Given the description of an element on the screen output the (x, y) to click on. 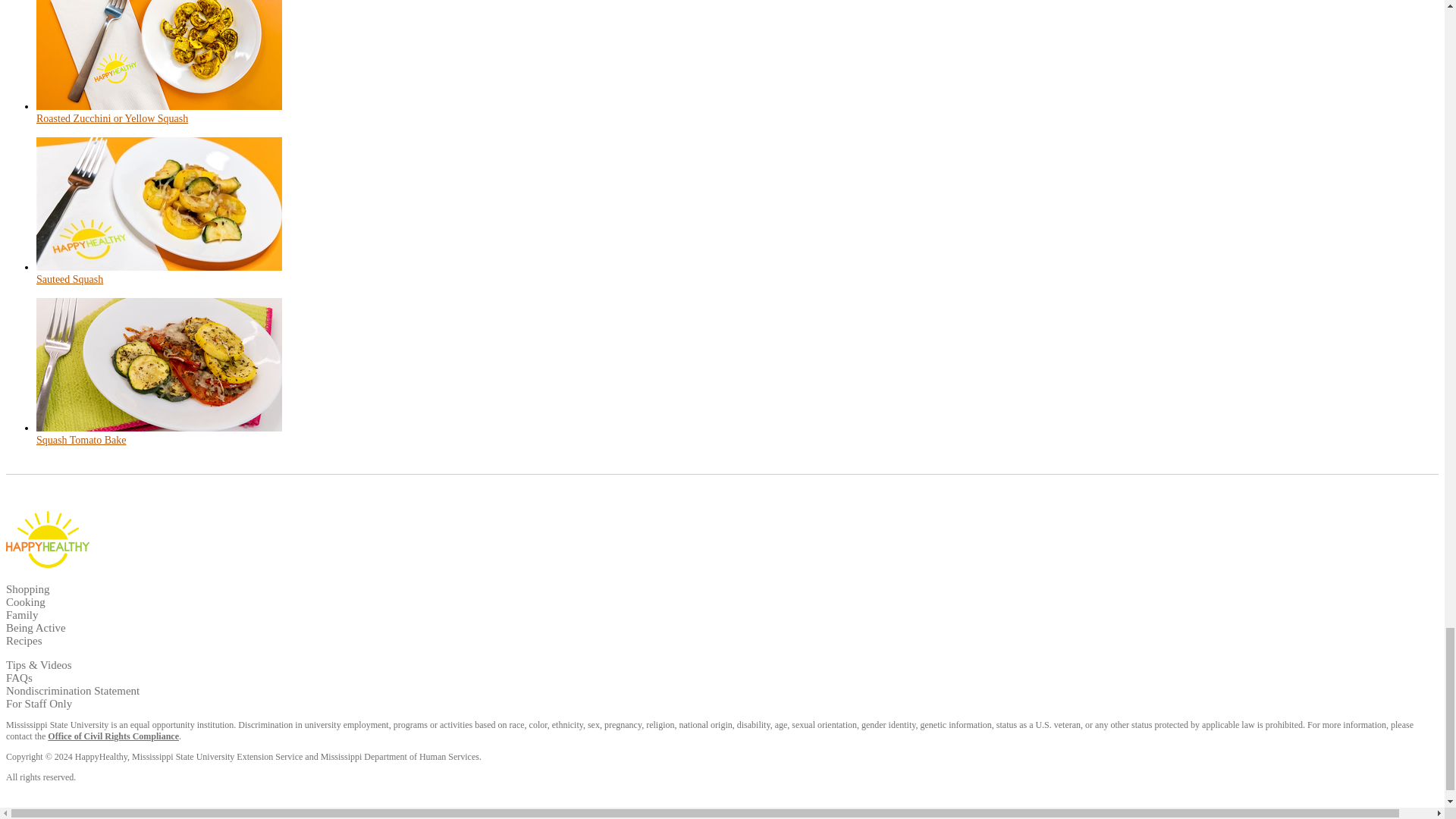
Sauteed Squash (69, 279)
Roasted Zucchini or Yellow Squash (111, 118)
